Given the description of an element on the screen output the (x, y) to click on. 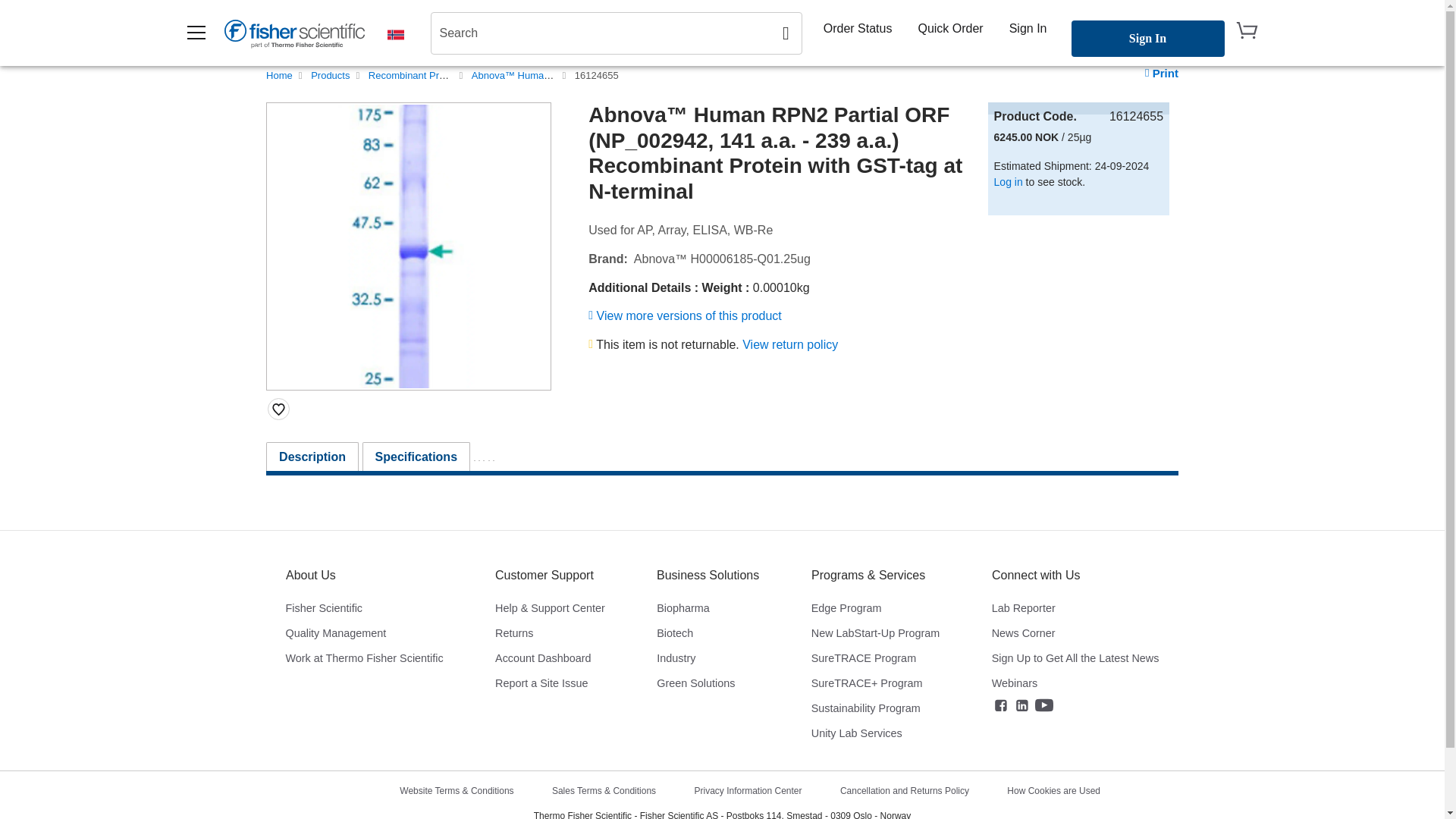
Print (1160, 72)
Home (279, 75)
Order Status (857, 28)
Products (330, 75)
Recombinant Proteins (416, 75)
Quick Order (949, 28)
Sign In (1028, 28)
Sign In (1147, 38)
LinkedIn icon LinkedIn icon (1021, 705)
16124655 (596, 75)
Facebook icon Facebook icon (1000, 705)
YouTube Icon YouTube Icon (1043, 705)
